Given the description of an element on the screen output the (x, y) to click on. 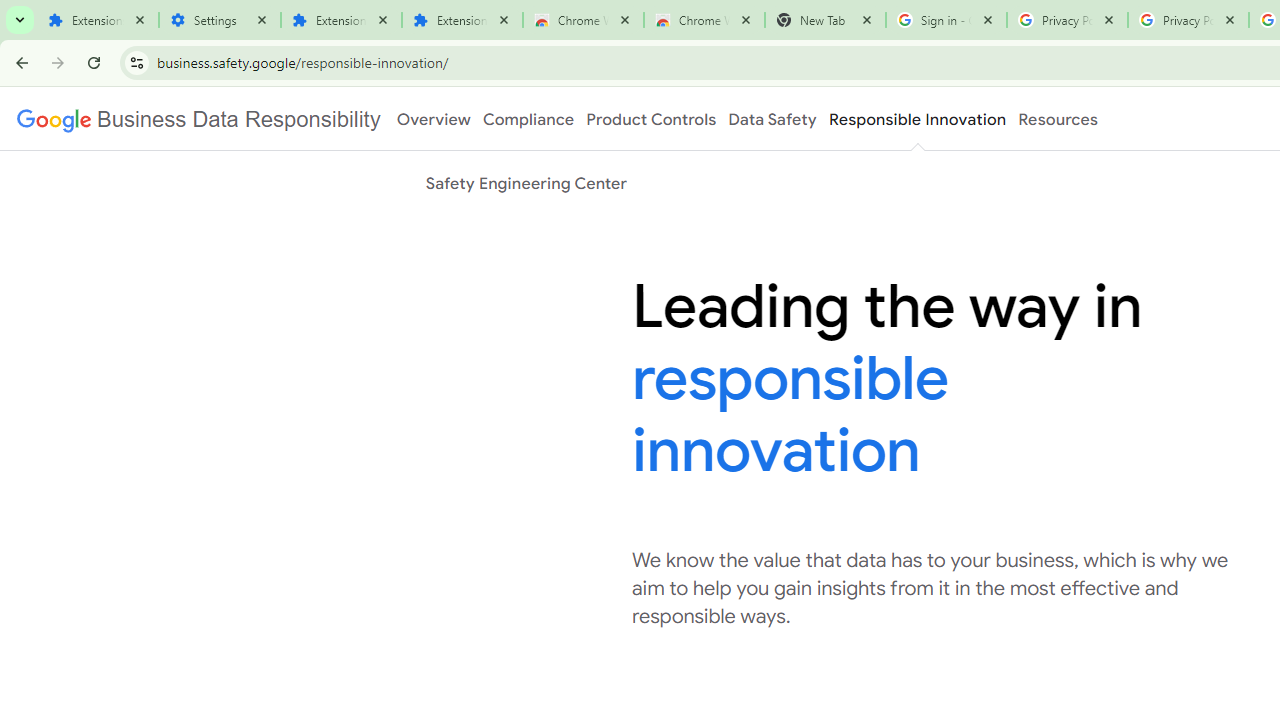
Extensions (97, 20)
Extensions (462, 20)
Resources (1058, 119)
Data Safety (772, 119)
Compliance (528, 119)
Sign in - Google Accounts (946, 20)
New Tab (825, 20)
Chrome Web Store (583, 20)
Google logo (198, 119)
